Given the description of an element on the screen output the (x, y) to click on. 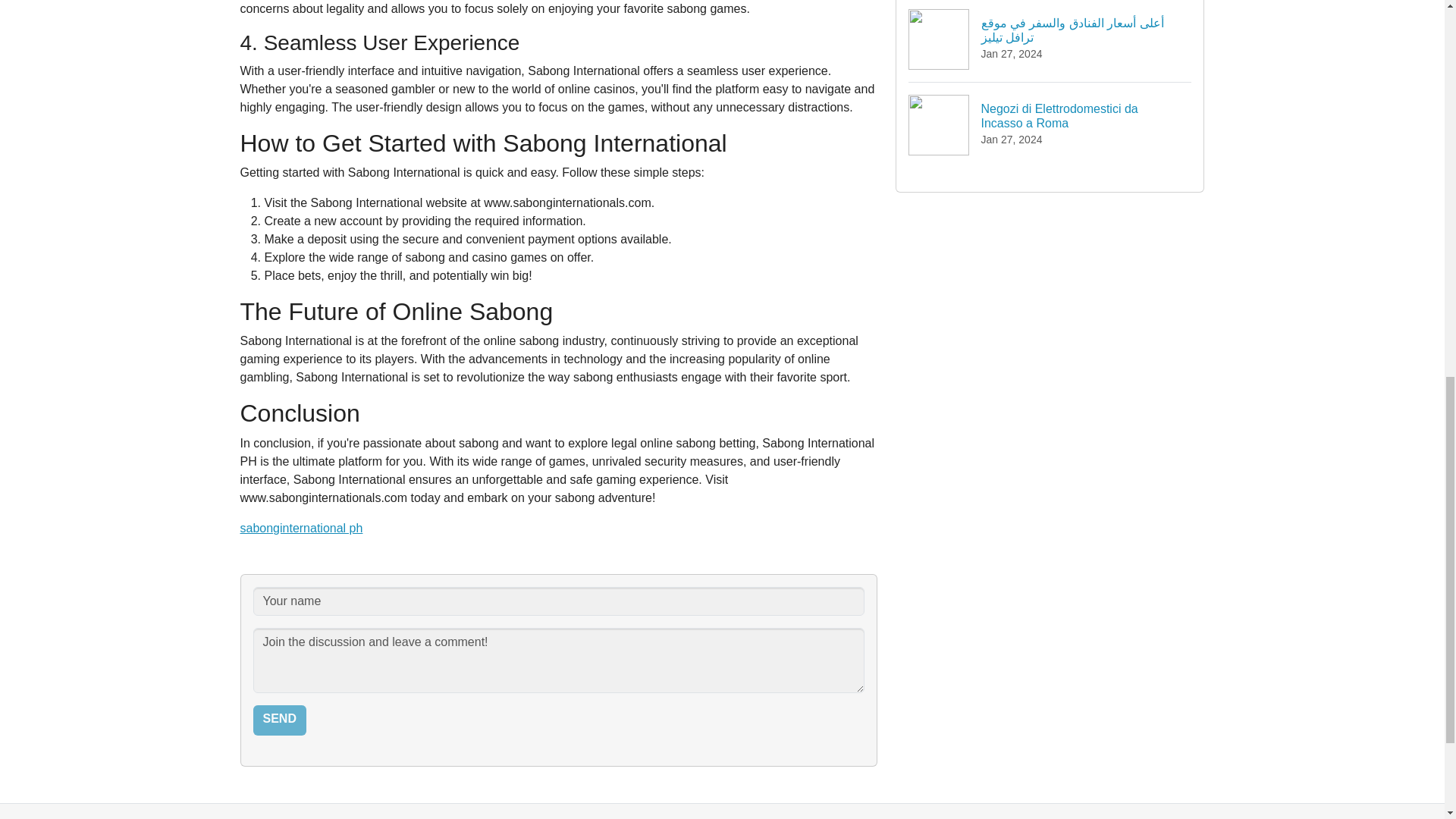
Send (1050, 124)
Send (279, 720)
sabonginternational ph (279, 720)
